Given the description of an element on the screen output the (x, y) to click on. 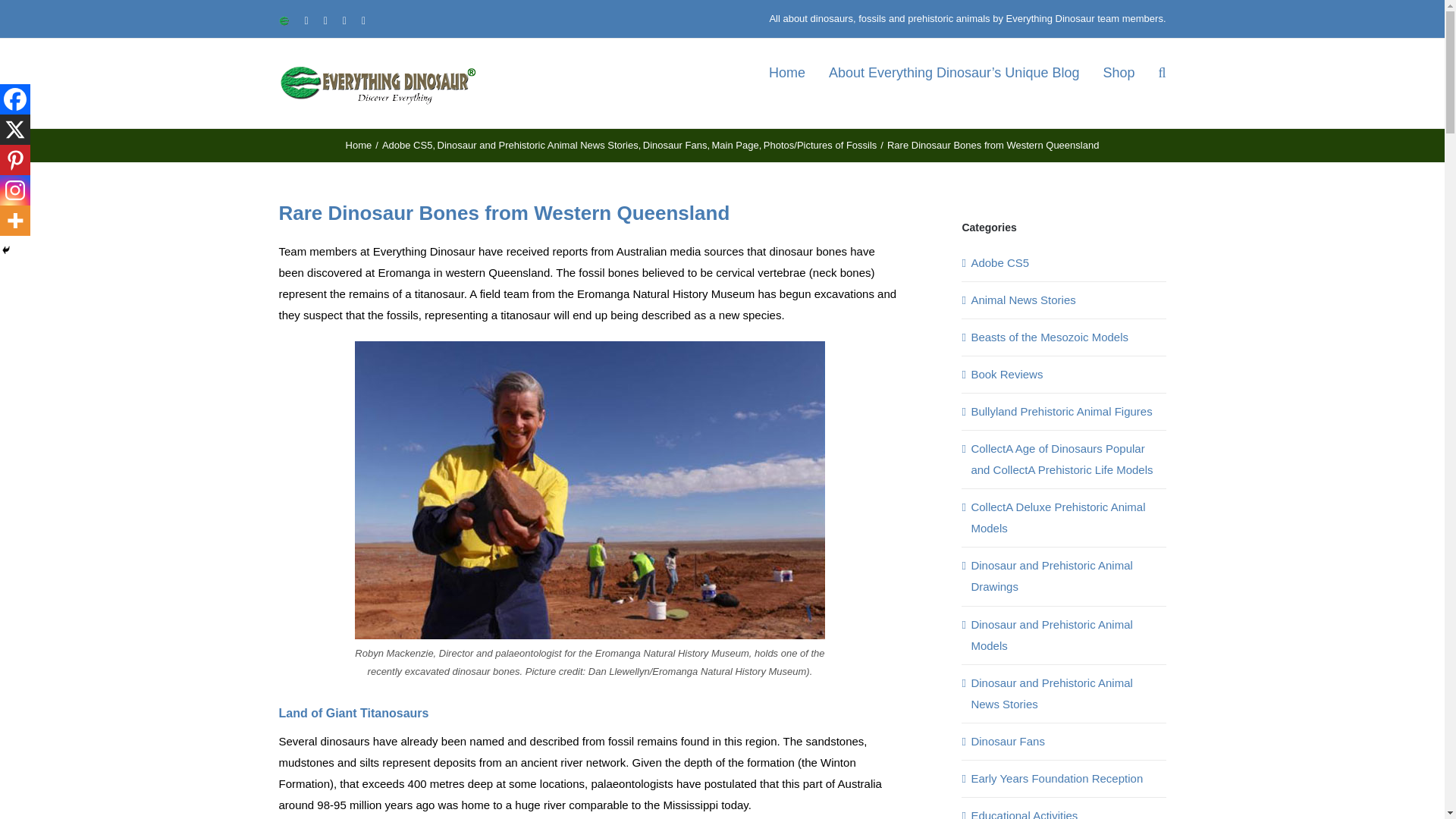
Instagram (15, 190)
X (15, 129)
Home (359, 144)
Adobe CS5 (406, 144)
Dinosaur and Prehistoric Animal News Stories (538, 144)
Facebook (15, 99)
More (15, 220)
Dinosaur Fans (675, 144)
Pinterest (15, 159)
Hide (5, 250)
Main Page (734, 144)
Website (284, 20)
